Given the description of an element on the screen output the (x, y) to click on. 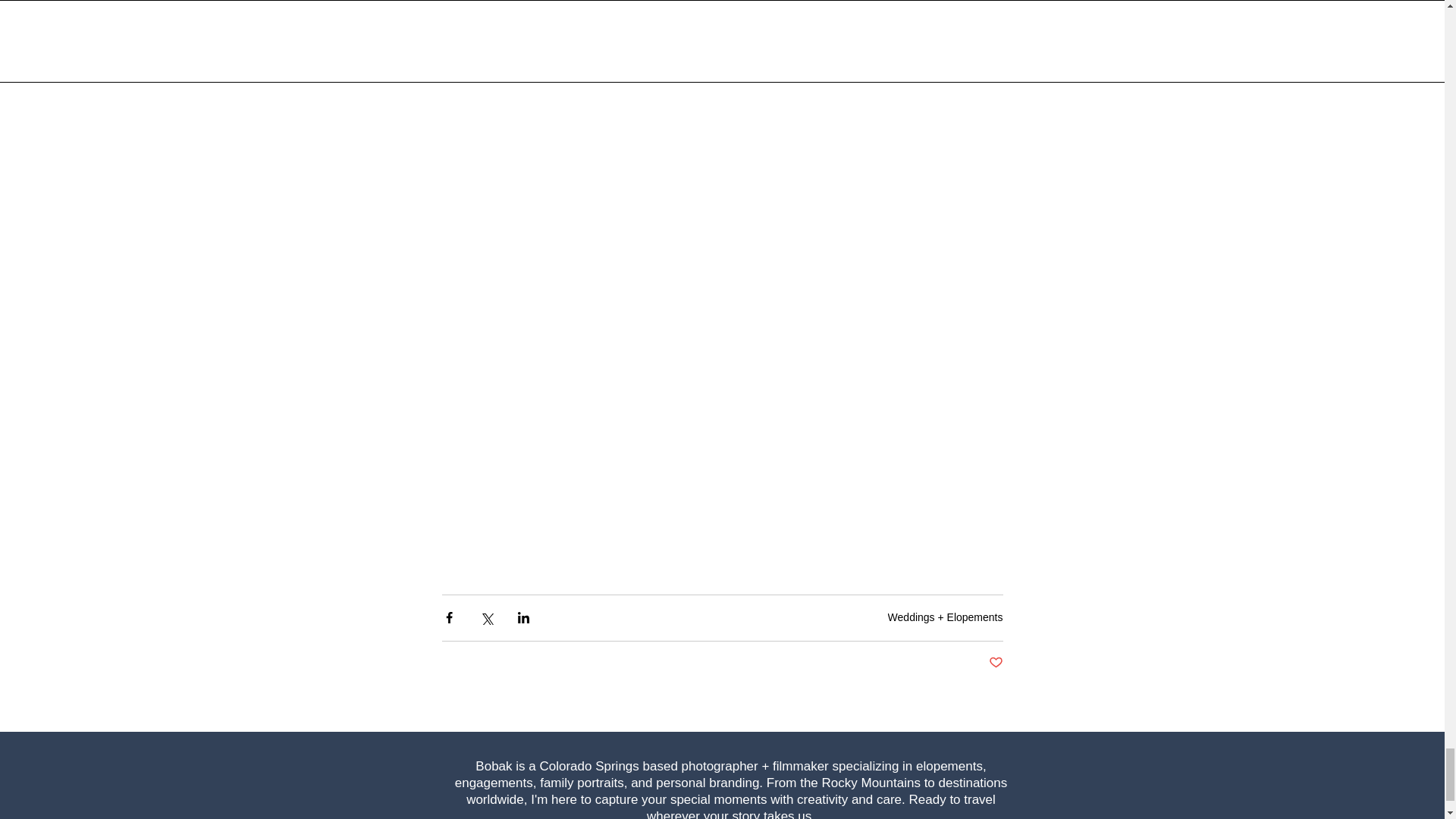
Post not marked as liked (995, 662)
